Given the description of an element on the screen output the (x, y) to click on. 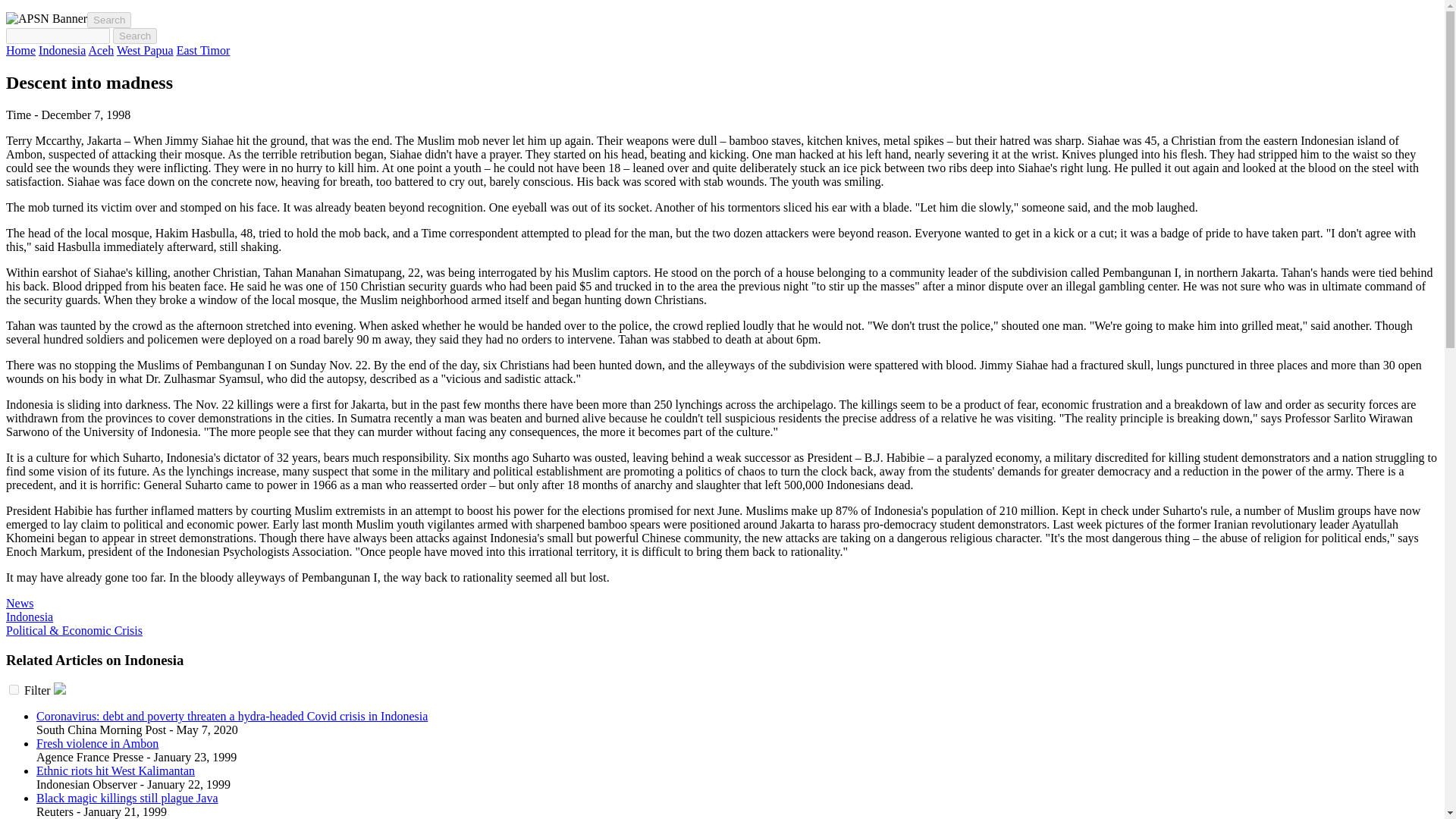
Enter the terms you wish to search for. (57, 35)
Indonesia (28, 616)
Ethnic riots hit West Kalimantan (115, 770)
East Timor (203, 50)
Black magic killings still plague Java (127, 797)
on (13, 689)
Search (135, 35)
Search (135, 35)
News (19, 603)
